Given the description of an element on the screen output the (x, y) to click on. 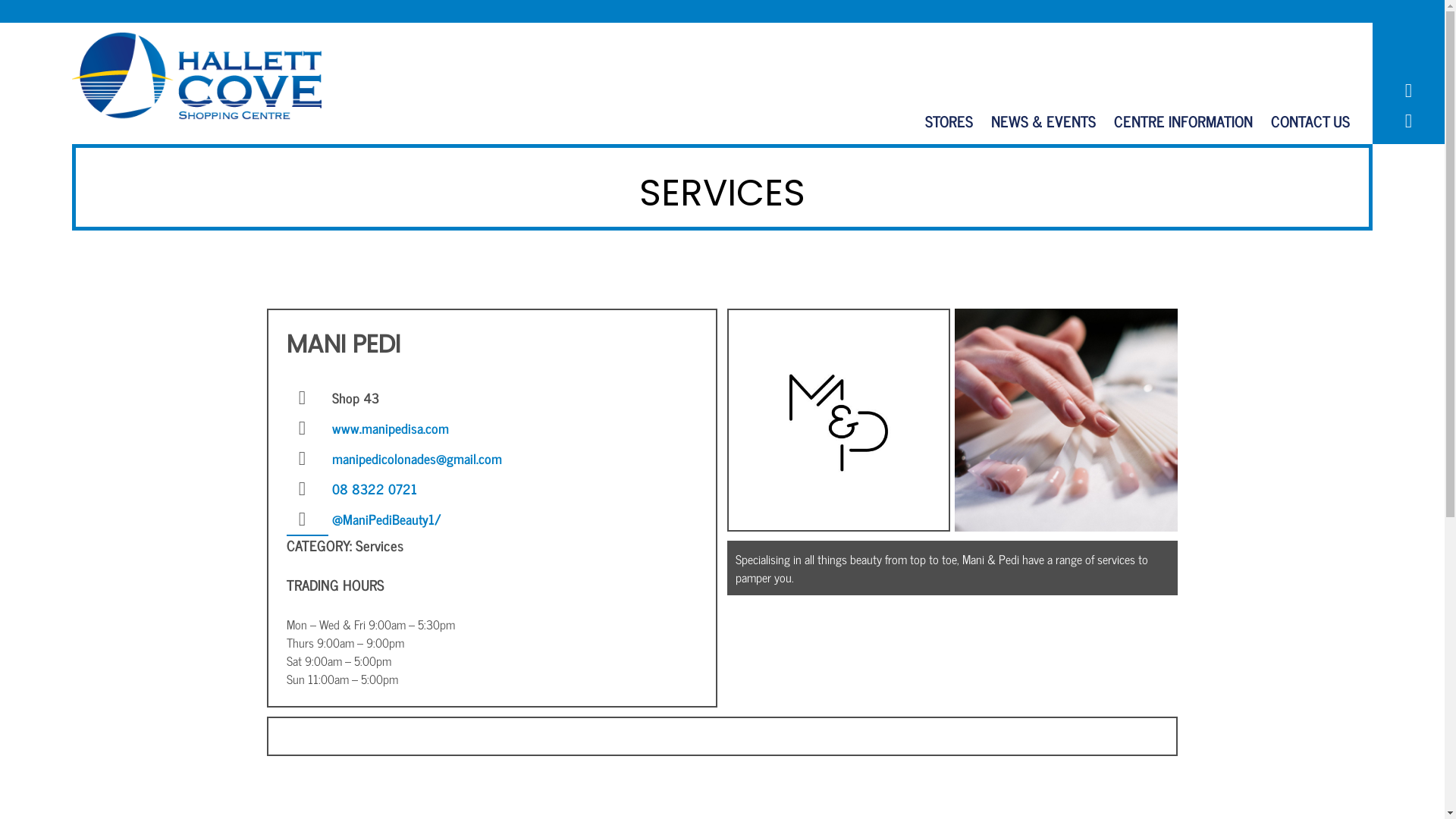
08 8322 0721 Element type: text (374, 488)
STORES Element type: text (948, 121)
Facebook Element type: text (1408, 90)
manipedicolonades@gmail.com Element type: text (417, 458)
Home Element type: text (200, 75)
CONTACT US Element type: text (1309, 121)
www.manipedisa.com Element type: text (390, 428)
CENTRE INFORMATION Element type: text (1182, 121)
NEWS & EVENTS Element type: text (1043, 121)
@ManiPediBeauty1/ Element type: text (386, 519)
Google Map Element type: text (1408, 121)
